Given the description of an element on the screen output the (x, y) to click on. 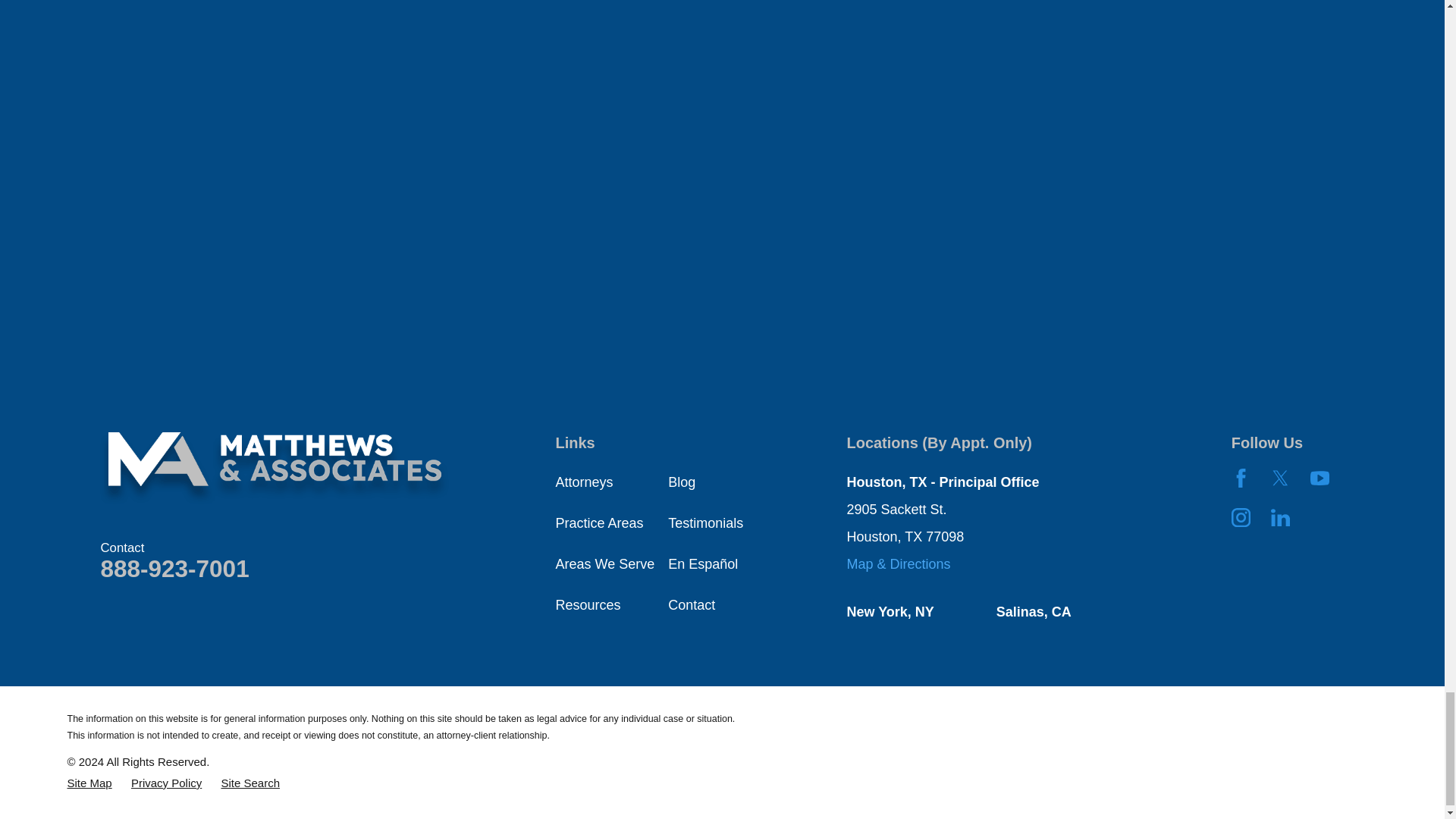
Facebook (1240, 477)
Twitter (1280, 477)
LinkedIn (1280, 517)
Instagram (1240, 517)
YouTube (1319, 477)
Home (274, 468)
